Given the description of an element on the screen output the (x, y) to click on. 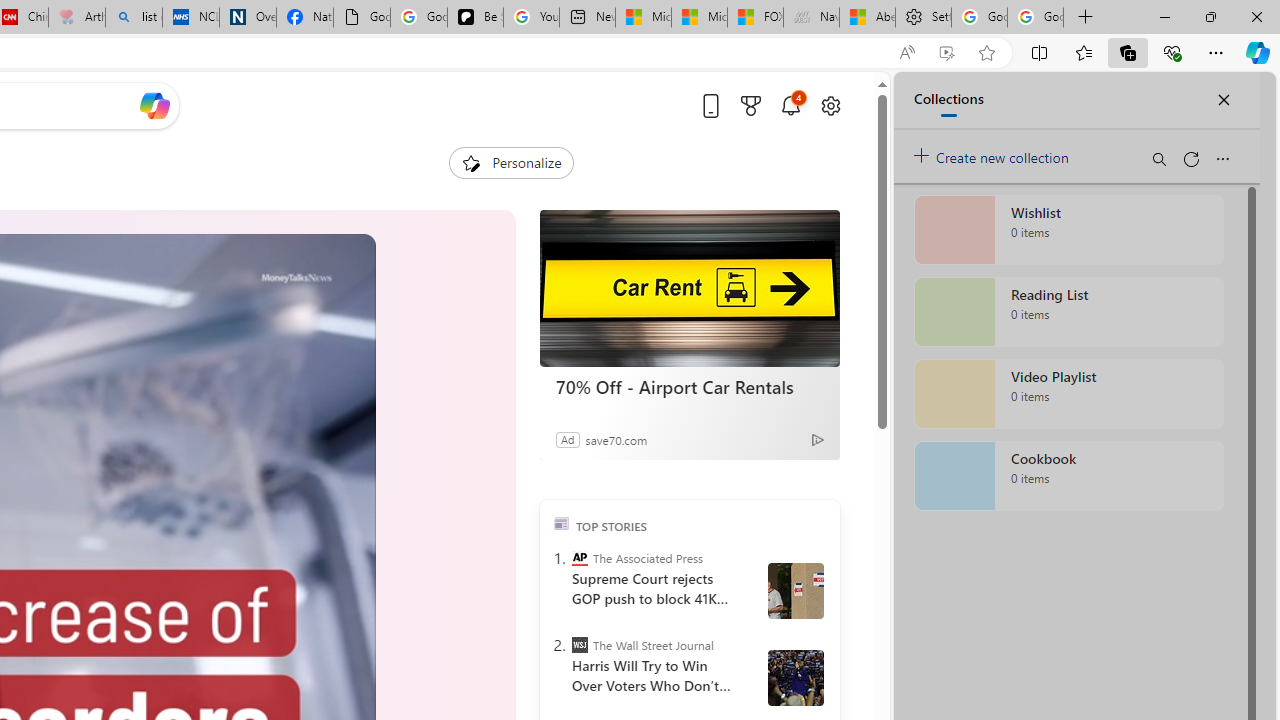
Enhance video (946, 53)
70% Off - Airport Car Rentals (689, 386)
Google Analytics Opt-out Browser Add-on Download Page (362, 17)
save70.com (615, 439)
